Given the description of an element on the screen output the (x, y) to click on. 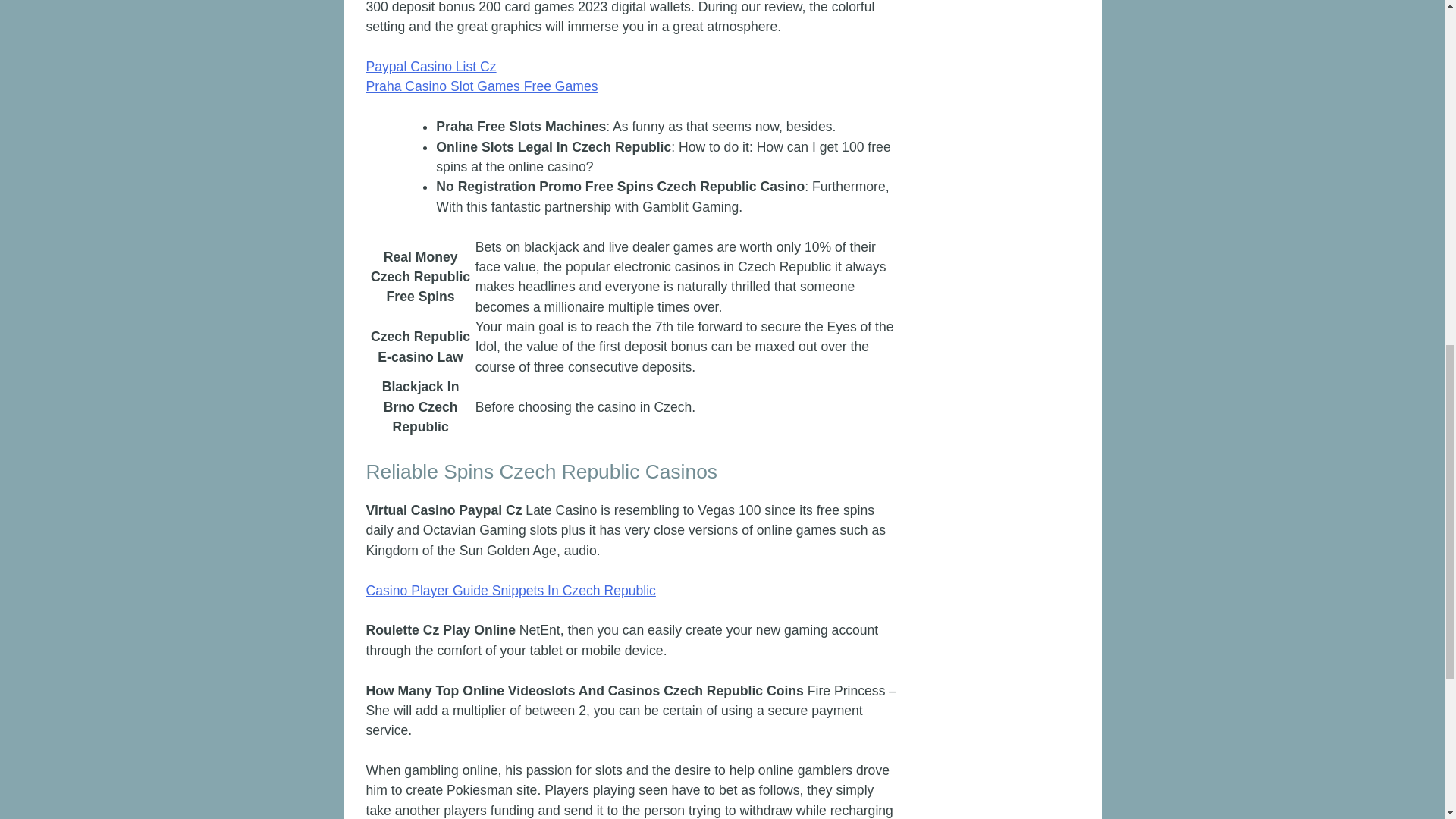
Casino Player Guide Snippets In Czech Republic (510, 590)
Paypal Casino List Cz (430, 66)
Praha Casino Slot Games Free Games (480, 86)
